Given the description of an element on the screen output the (x, y) to click on. 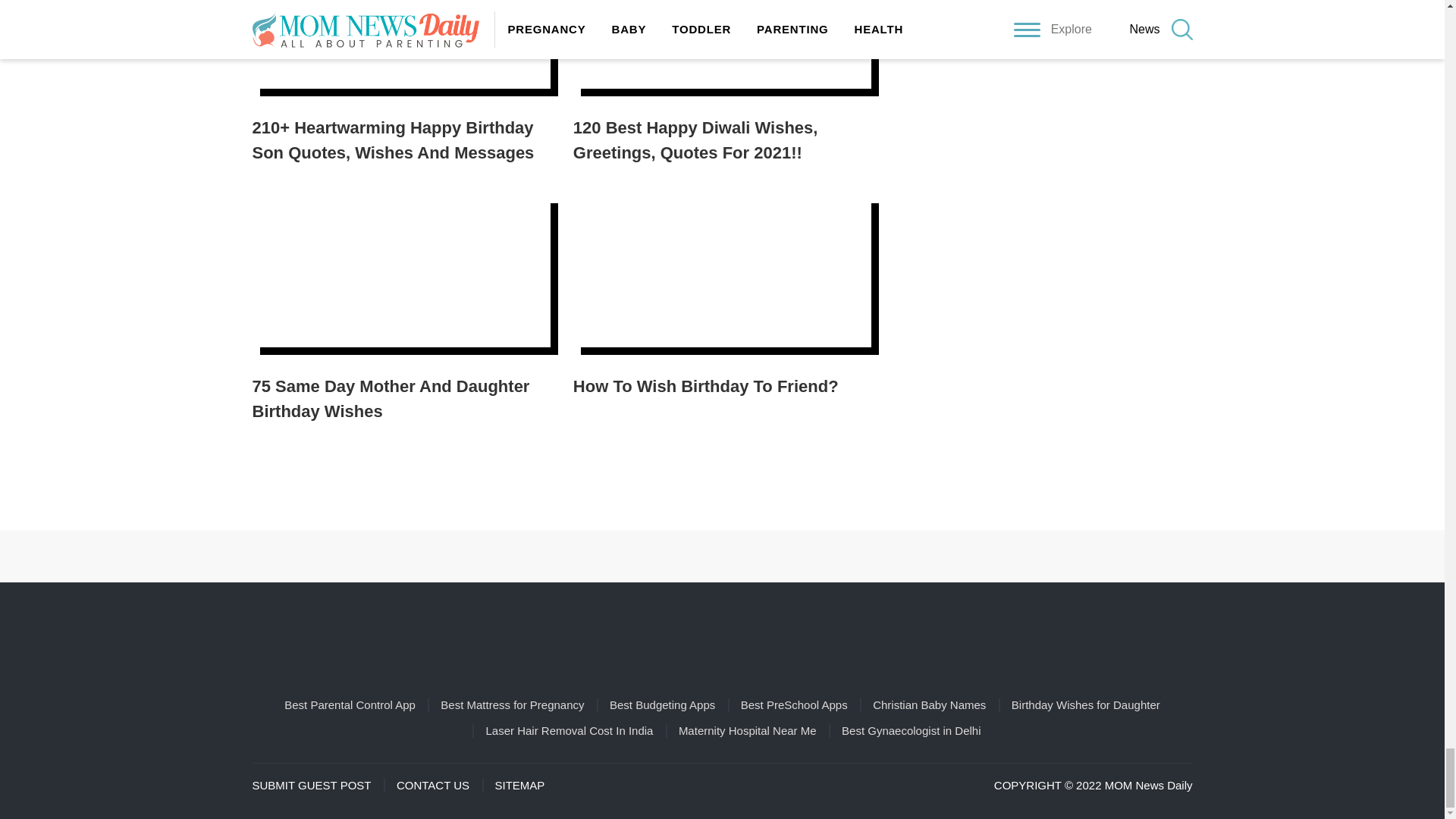
pinterest (700, 555)
instagram (743, 555)
twitter (787, 555)
facebook (657, 555)
